Given the description of an element on the screen output the (x, y) to click on. 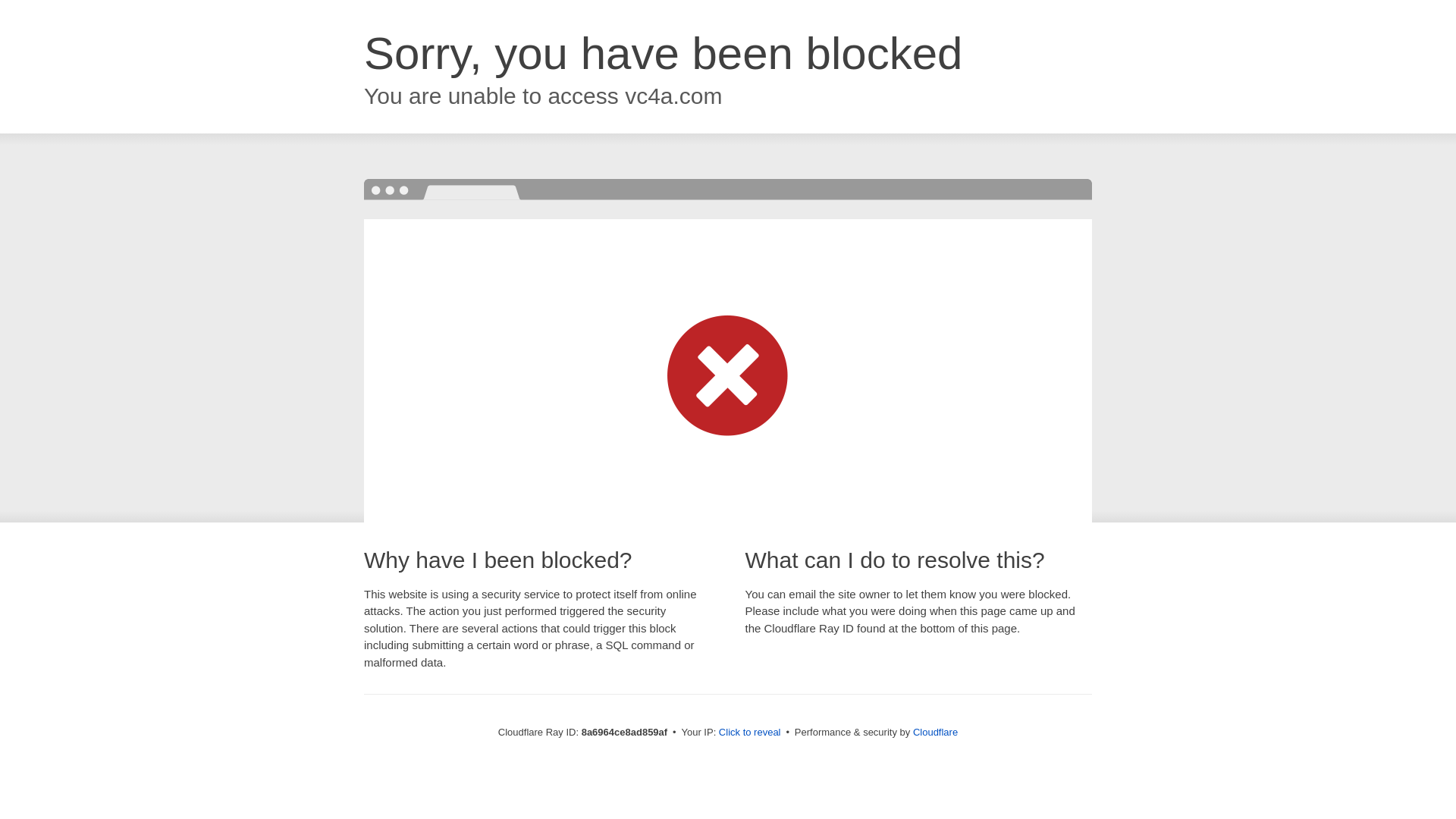
Click to reveal (749, 732)
Cloudflare (935, 731)
